Given the description of an element on the screen output the (x, y) to click on. 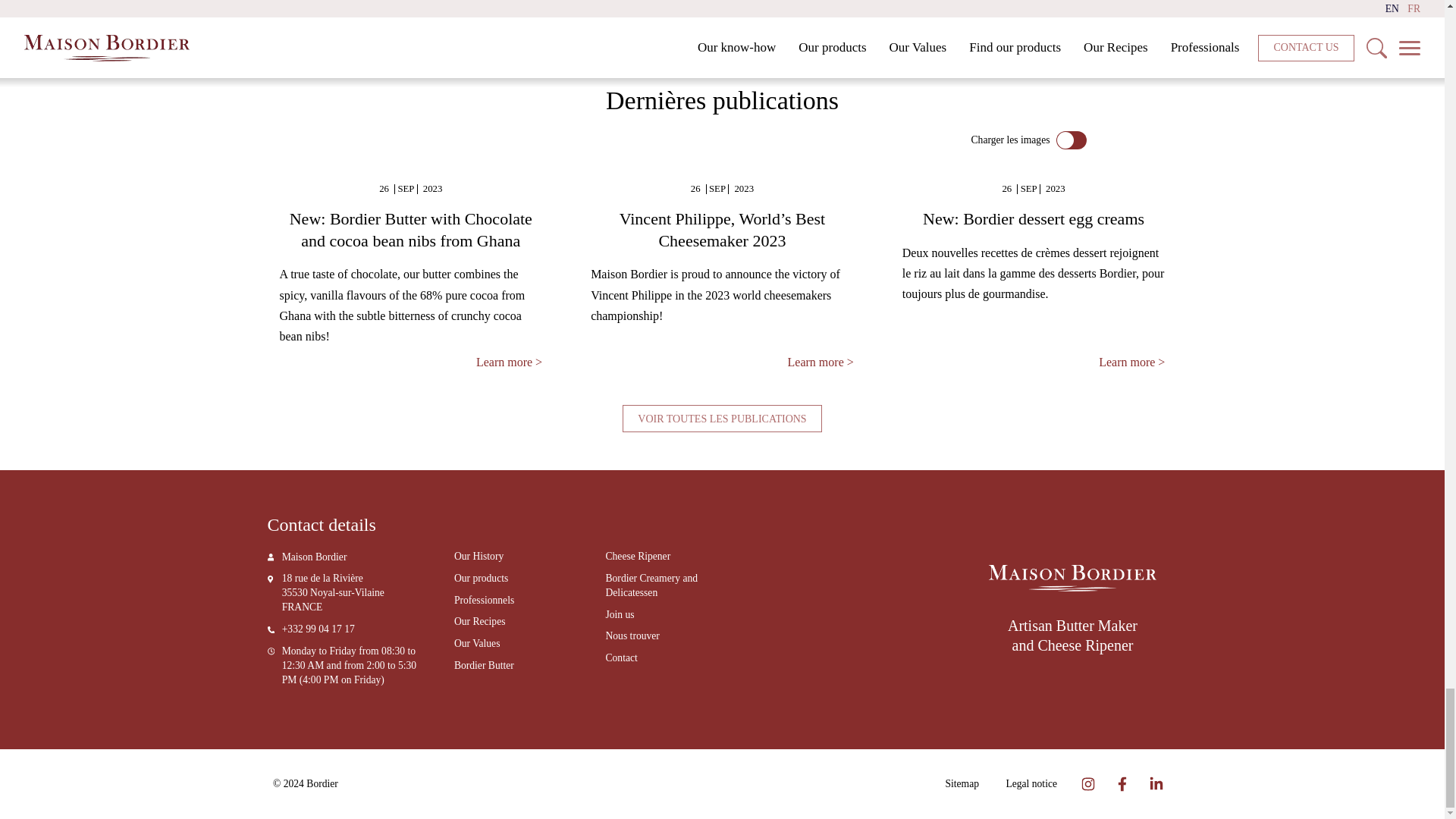
Follow us on Instagram (1088, 783)
Follow us on Facebook (1121, 783)
New: Bordier dessert egg creams (1131, 362)
Follow us on Linkedin (1156, 783)
New: Bordier dessert egg creams (1033, 219)
